Given the description of an element on the screen output the (x, y) to click on. 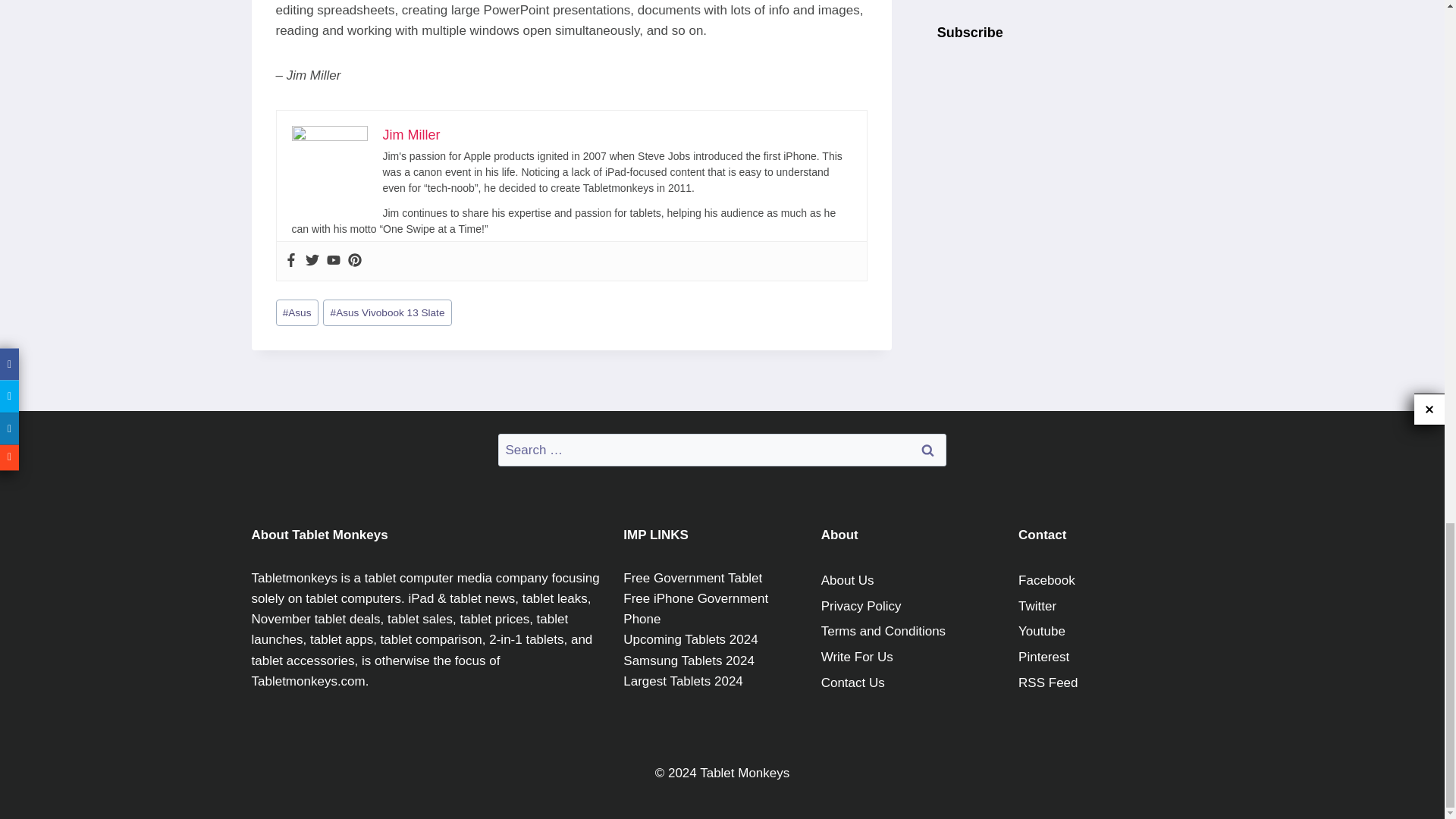
Search (927, 450)
Asus (297, 312)
Asus Vivobook 13 Slate (387, 312)
Search (927, 450)
Jim Miller (410, 134)
